Given the description of an element on the screen output the (x, y) to click on. 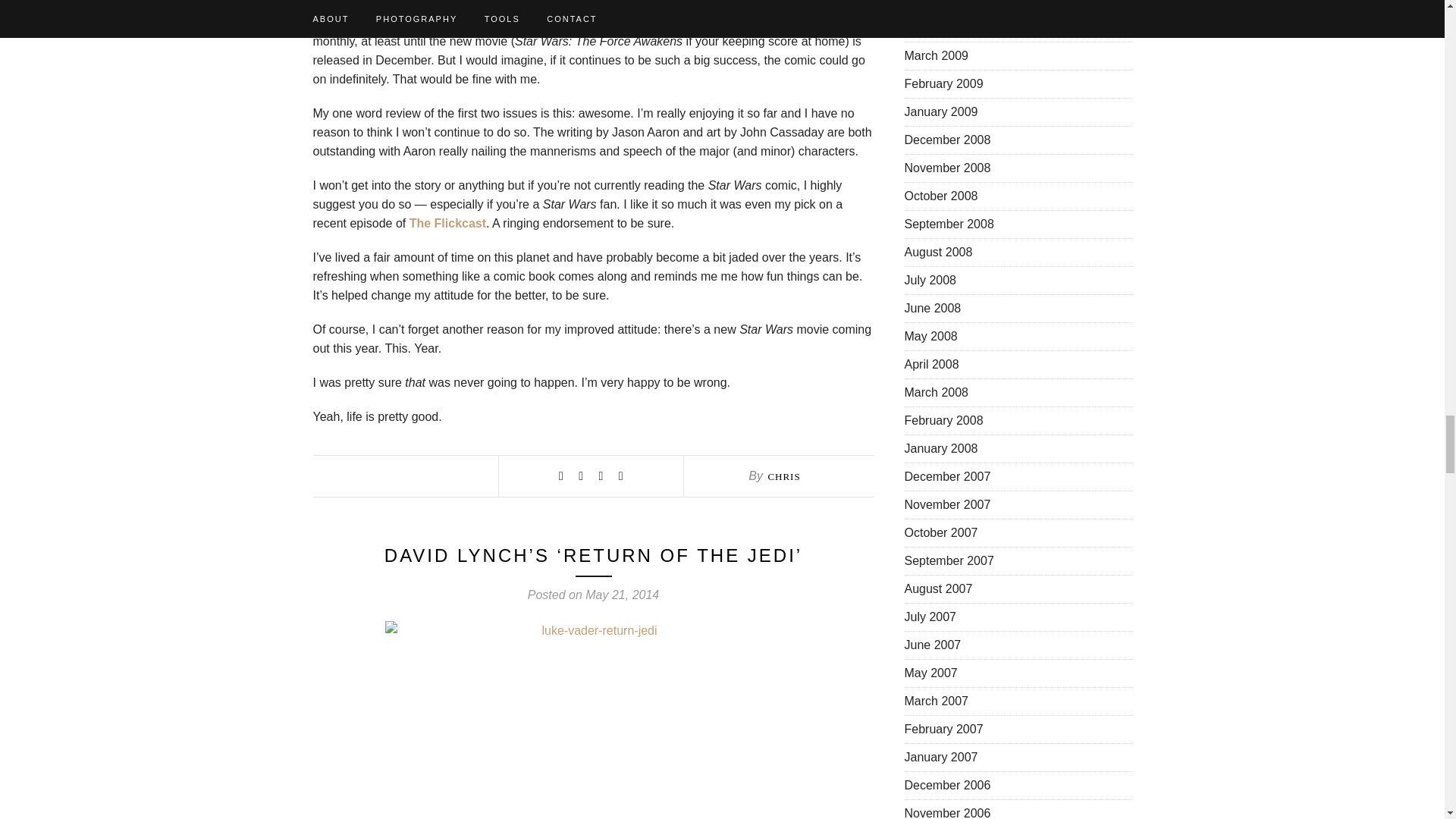
Posts by Chris (783, 476)
